Given the description of an element on the screen output the (x, y) to click on. 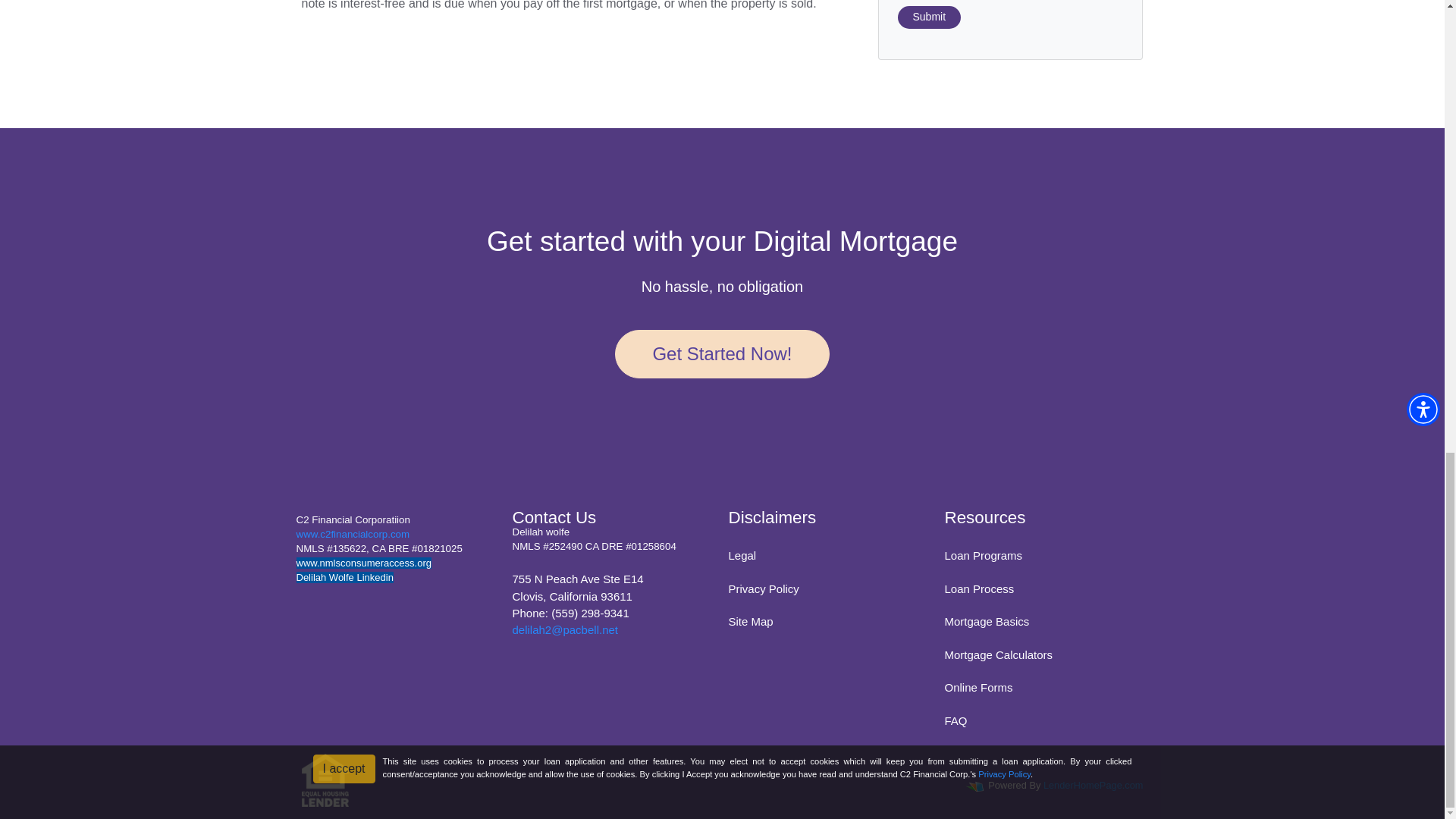
Delilah Wolfe Linkedin (344, 577)
Get Started Now! (721, 354)
www.c2financialcorp.com (352, 533)
Online Forms (978, 686)
FAQ (956, 720)
Mortgage Calculators (998, 654)
Site Map (750, 621)
Privacy Policy (762, 588)
LenderHomePage.com (1092, 785)
Submit (929, 16)
Legal (741, 554)
Mortgage Basics (986, 621)
Loan Process (979, 588)
Loan Programs (983, 554)
www.nmlsconsumeraccess.org (362, 562)
